Given the description of an element on the screen output the (x, y) to click on. 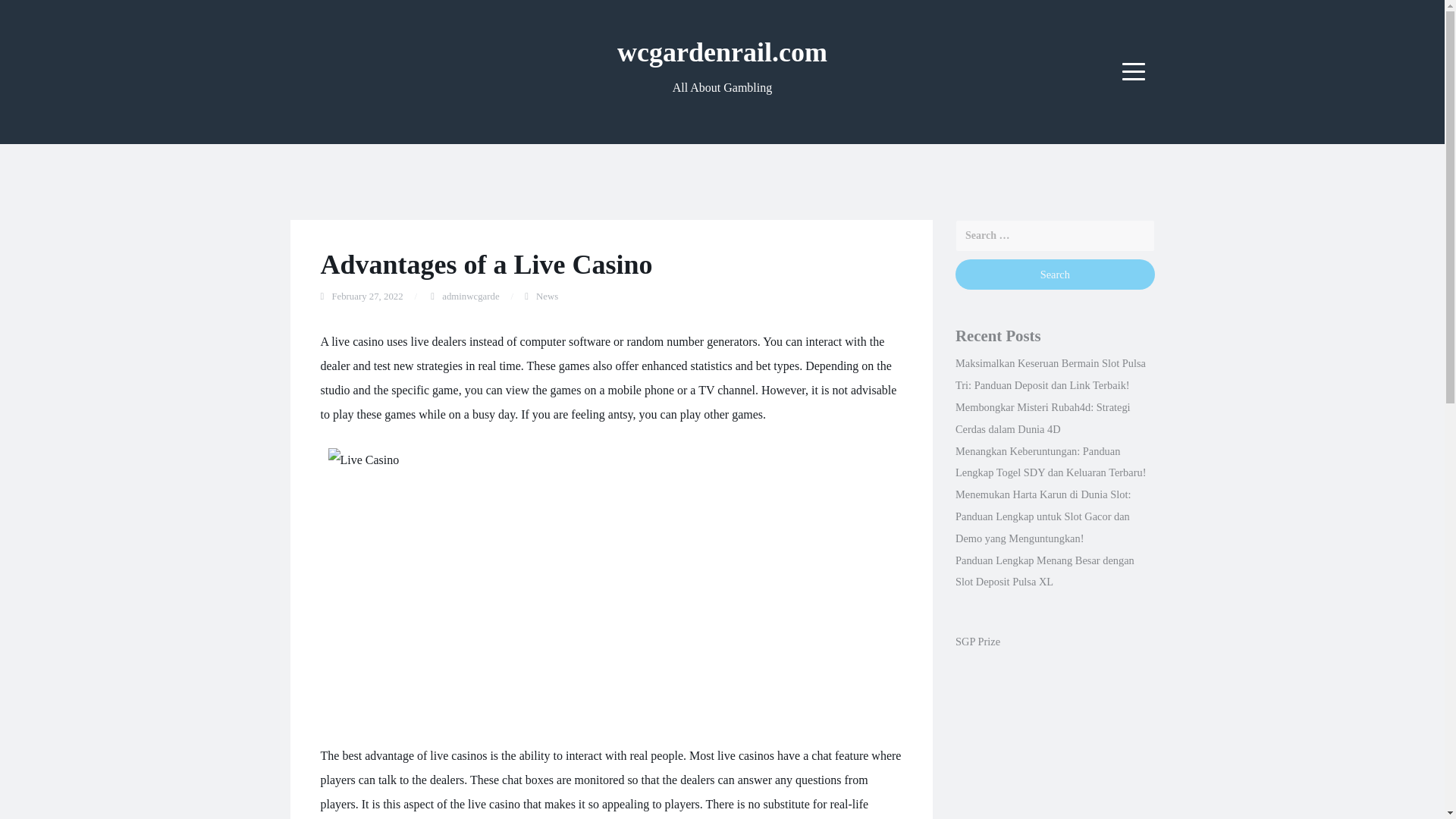
Search (1054, 274)
Search (1054, 274)
wcgardenrail.com (722, 51)
SGP Prize (977, 641)
February 27, 2022 (367, 296)
Membongkar Misteri Rubah4d: Strategi Cerdas dalam Dunia 4D (1043, 417)
Panduan Lengkap Menang Besar dengan Slot Deposit Pulsa XL (1044, 571)
adminwcgarde (470, 296)
